Given the description of an element on the screen output the (x, y) to click on. 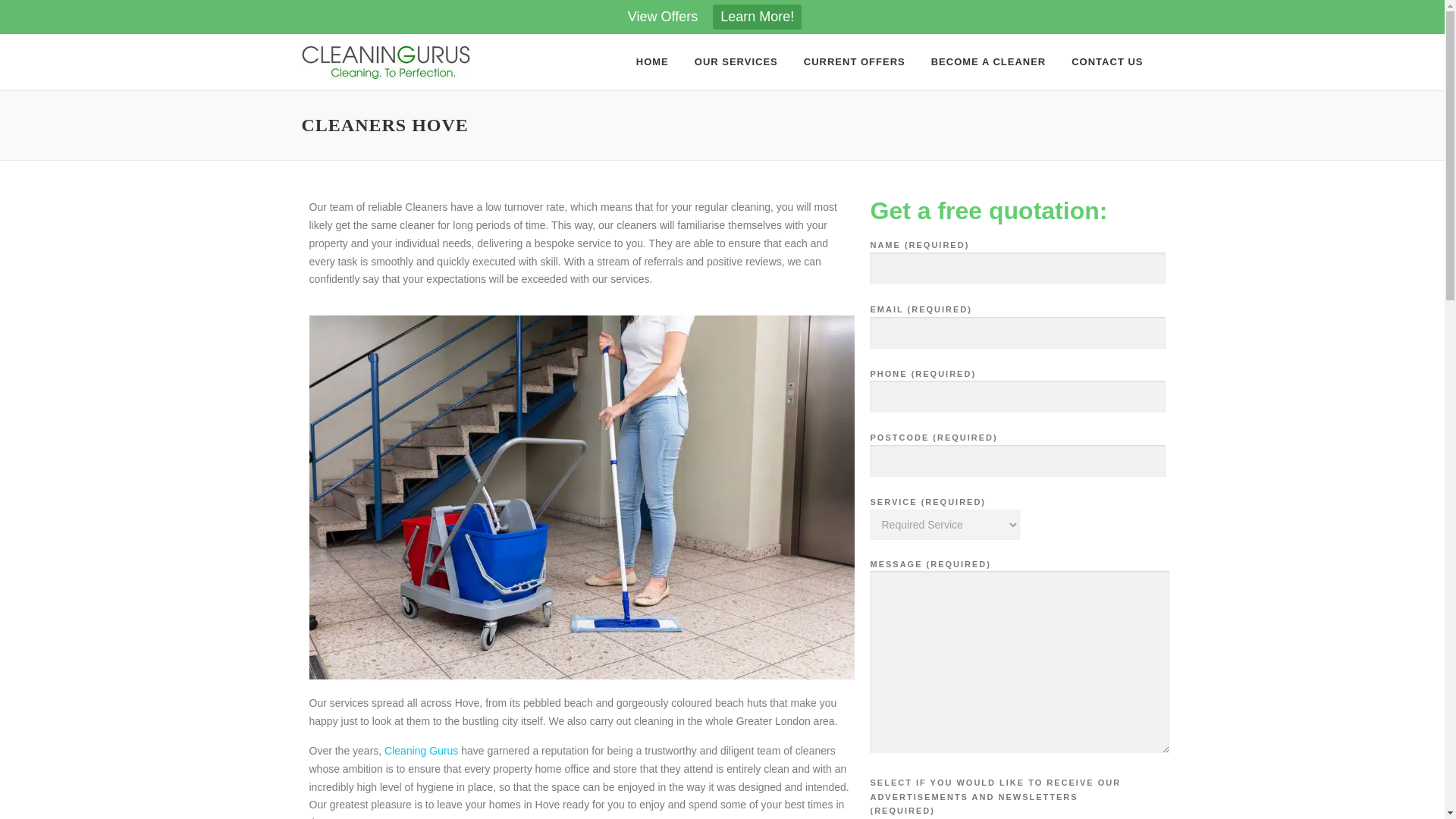
HOME (652, 61)
Cleaning Gurus (421, 750)
CURRENT OFFERS (854, 61)
OUR SERVICES (735, 61)
CONTACT US (1100, 61)
BECOME A CLEANER (988, 61)
Learn More! (757, 16)
